Given the description of an element on the screen output the (x, y) to click on. 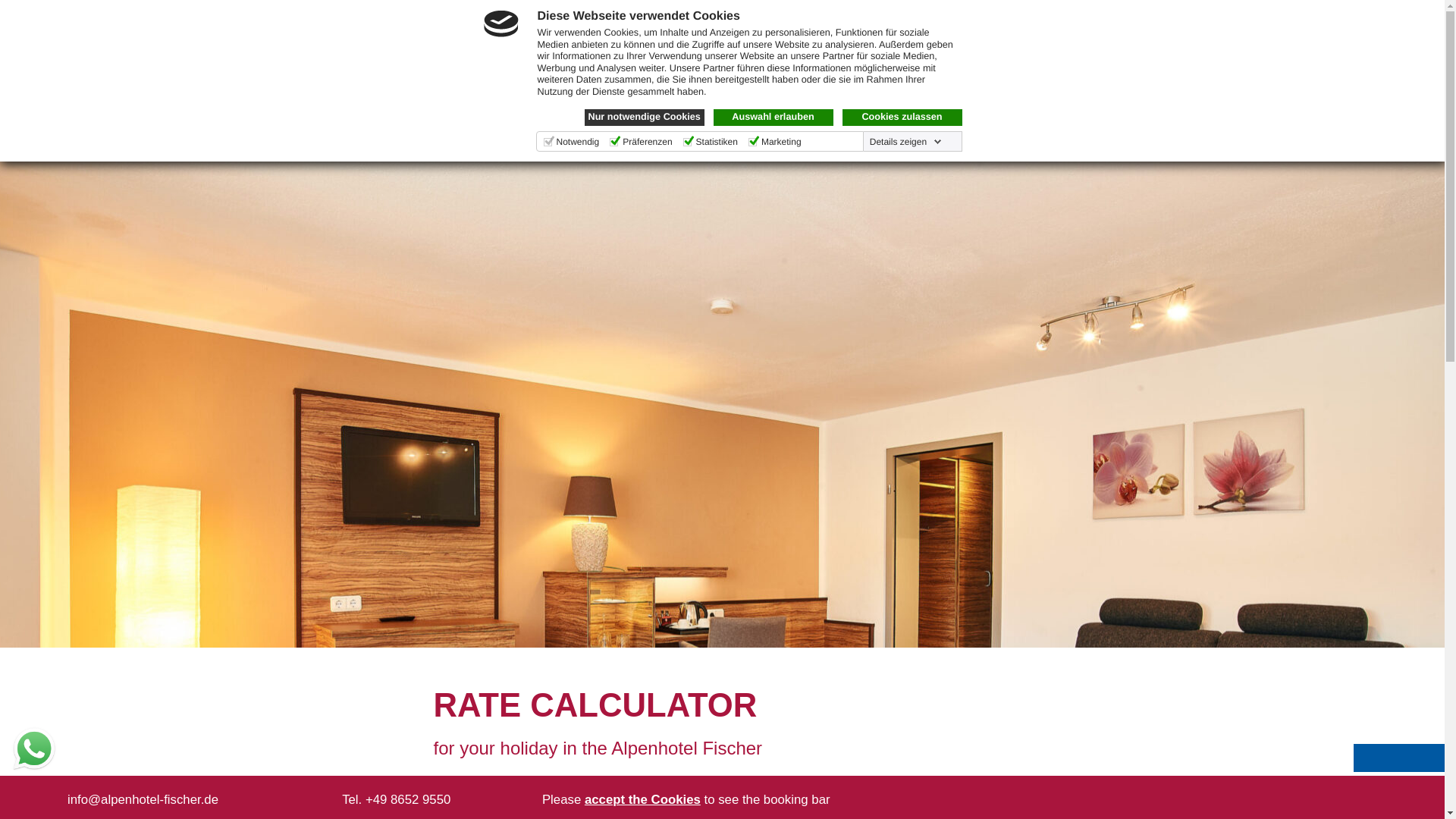
Cookies zulassen (900, 117)
Auswahl erlauben (772, 117)
Nur notwendige Cookies (643, 117)
Details zeigen (905, 141)
